Given the description of an element on the screen output the (x, y) to click on. 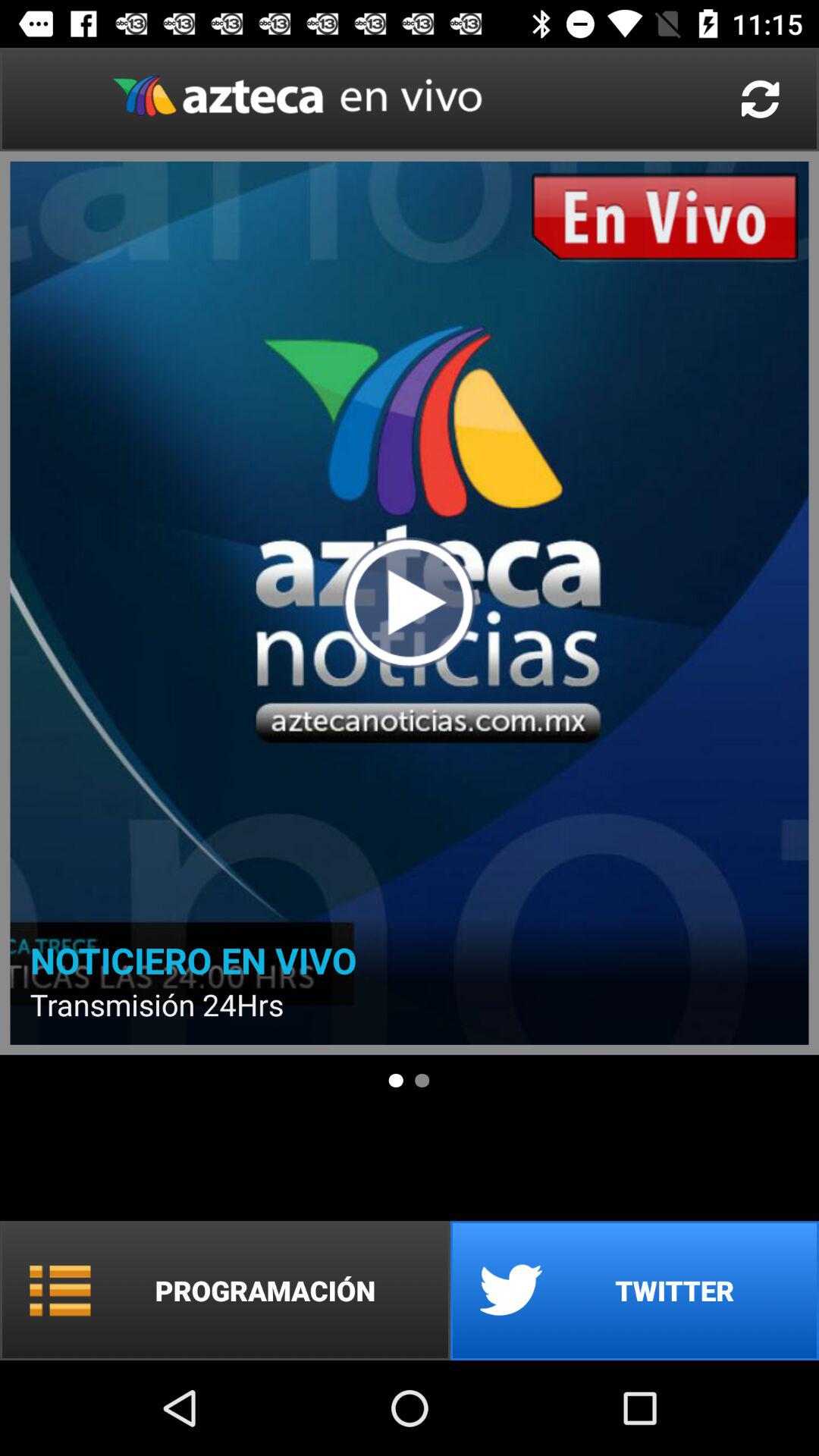
press button to the left of twitter item (225, 1290)
